Given the description of an element on the screen output the (x, y) to click on. 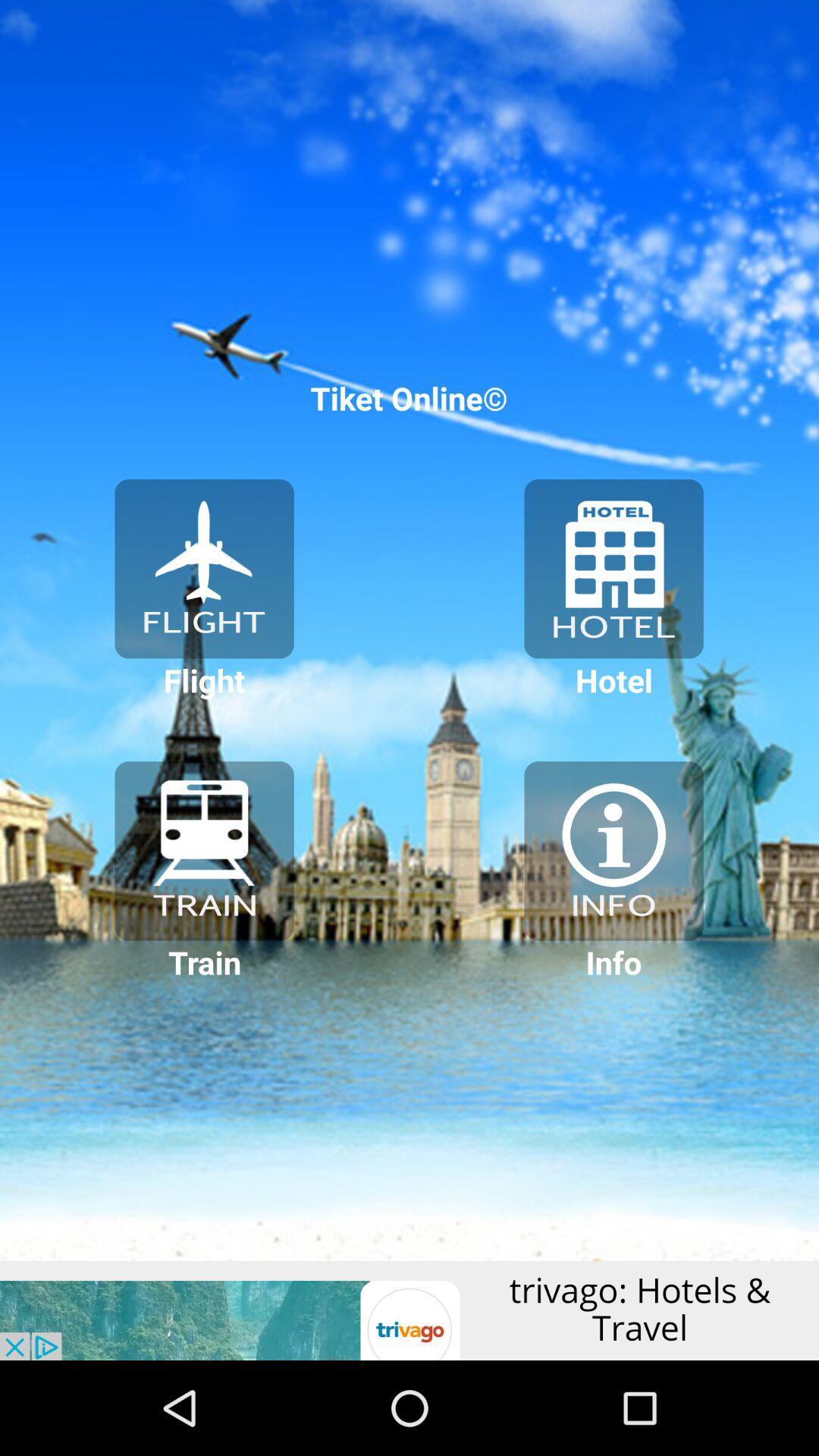
details about advertisement (409, 1310)
